Given the description of an element on the screen output the (x, y) to click on. 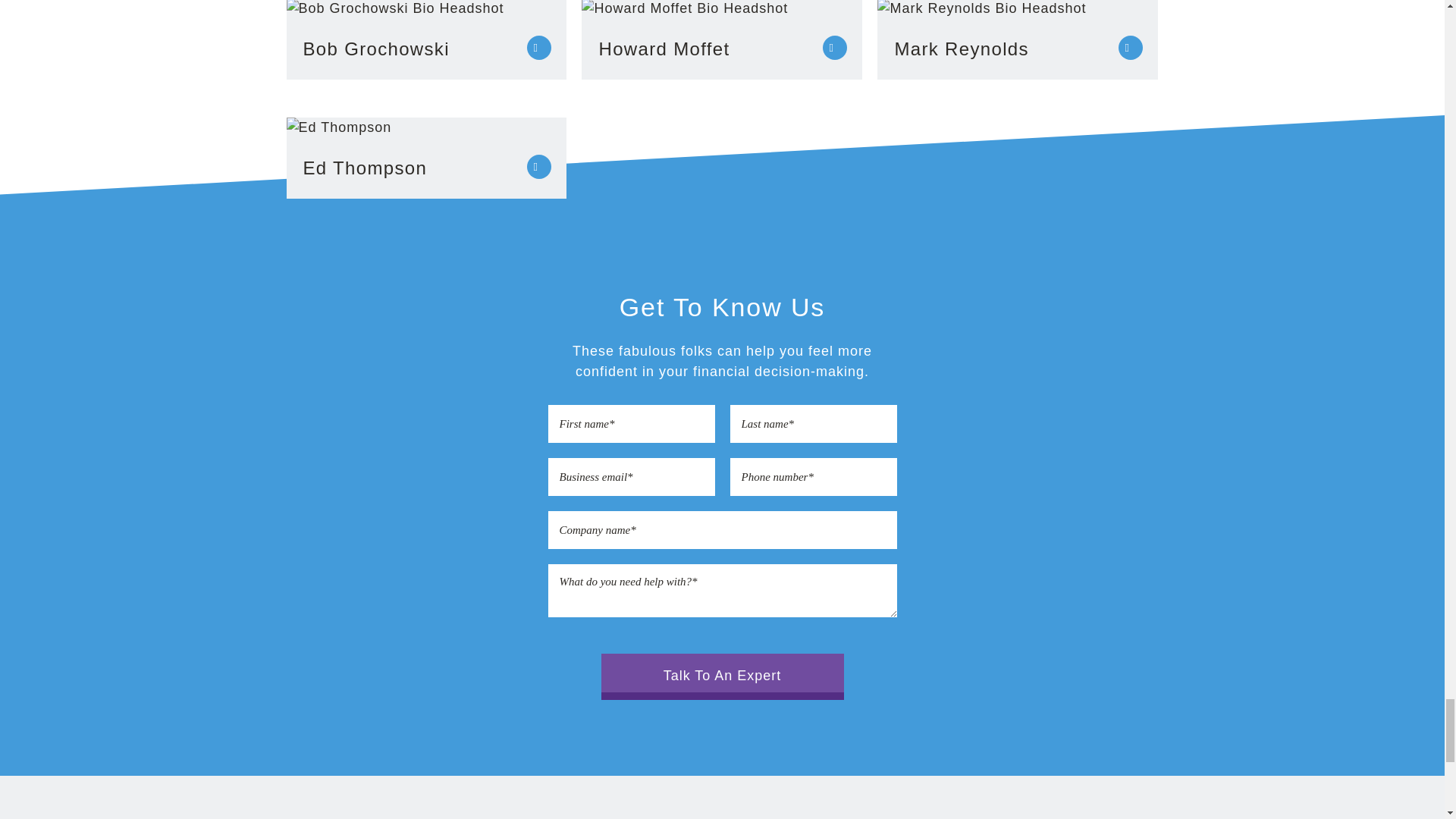
Talk To An Expert (721, 676)
